Given the description of an element on the screen output the (x, y) to click on. 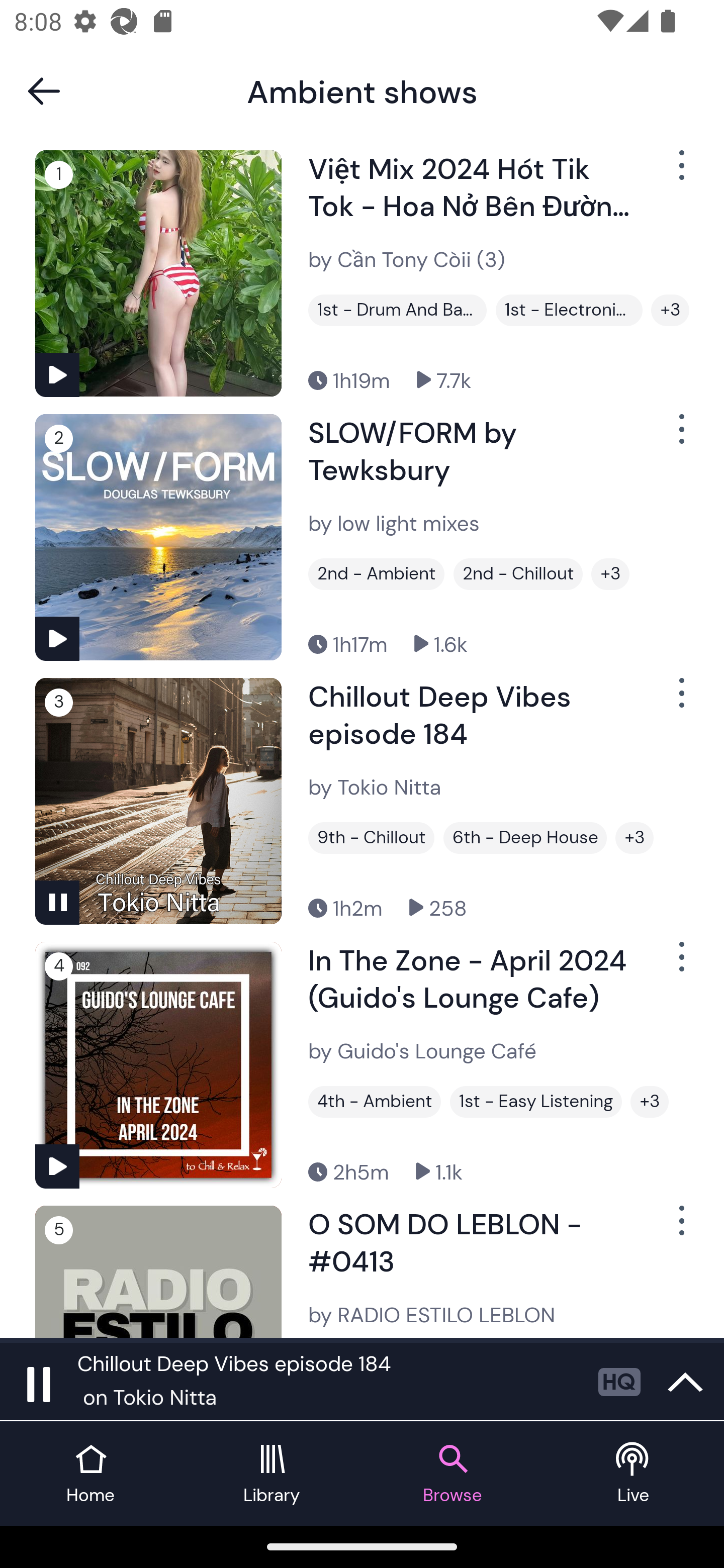
Show Options Menu Button (679, 173)
1st - Drum And Bass (397, 310)
1st - Electronica (568, 310)
Show Options Menu Button (679, 436)
2nd - Ambient (376, 573)
2nd - Chillout (517, 573)
Show Options Menu Button (679, 700)
9th - Chillout (371, 837)
6th - Deep House (524, 837)
Show Options Menu Button (679, 964)
4th - Ambient (374, 1101)
1st - Easy Listening (535, 1101)
Show Options Menu Button (679, 1228)
Home tab Home (90, 1473)
Library tab Library (271, 1473)
Browse tab Browse (452, 1473)
Live tab Live (633, 1473)
